Given the description of an element on the screen output the (x, y) to click on. 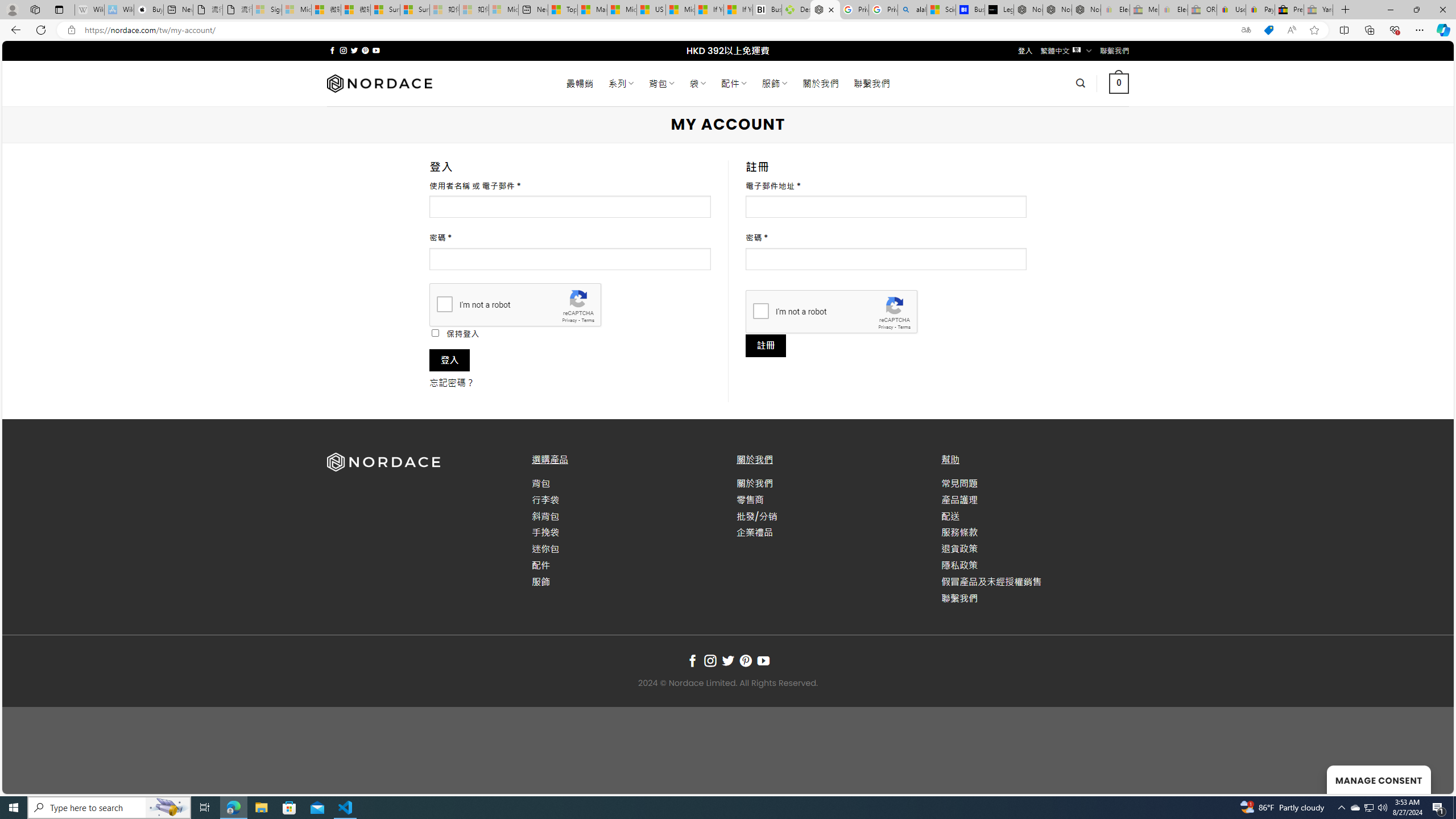
alabama high school quarterback dies - Search (911, 9)
Payments Terms of Use | eBay.com (1259, 9)
